Given the description of an element on the screen output the (x, y) to click on. 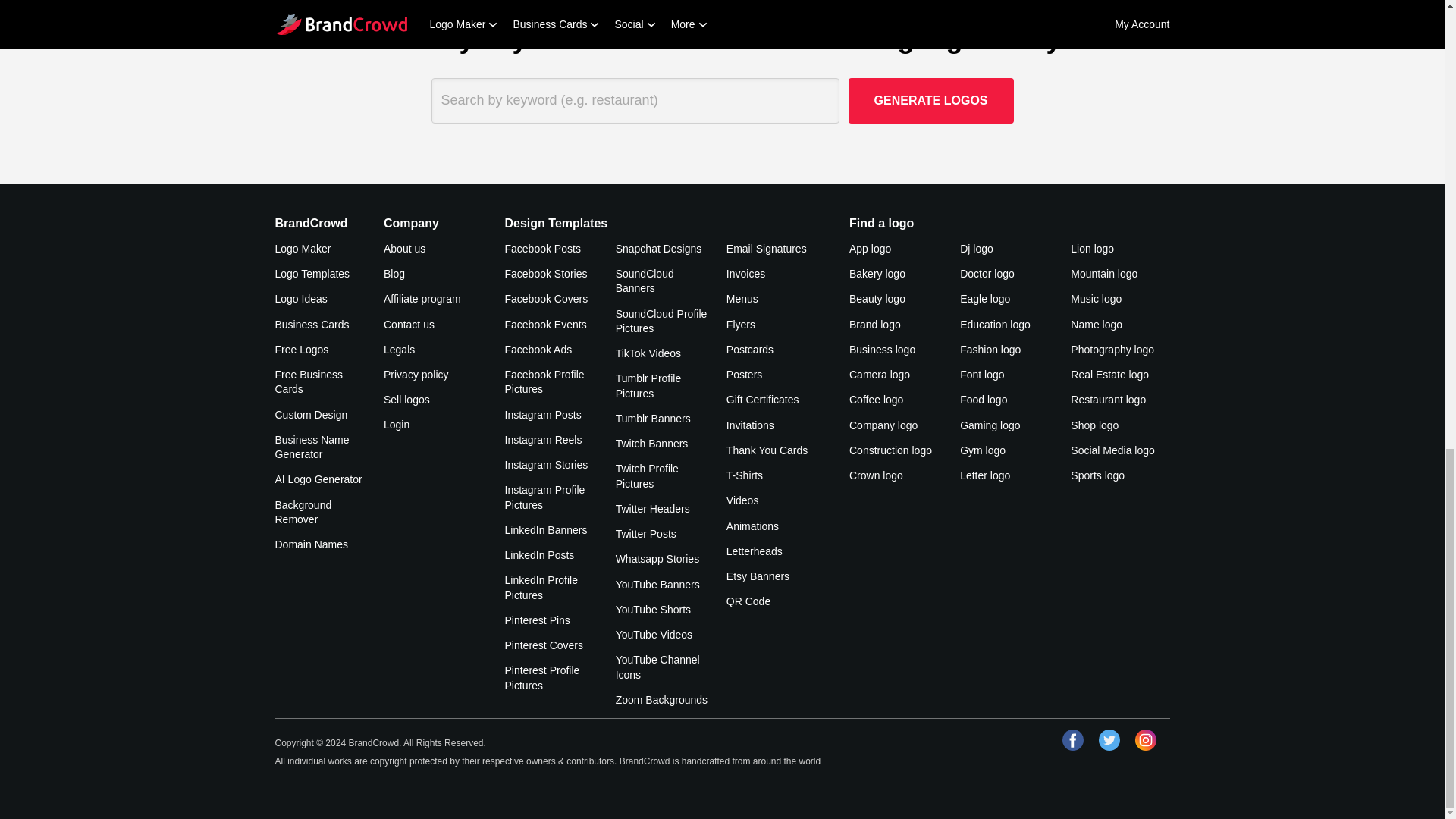
instagram (1144, 740)
twitter (1108, 740)
facebook (1071, 740)
